Given the description of an element on the screen output the (x, y) to click on. 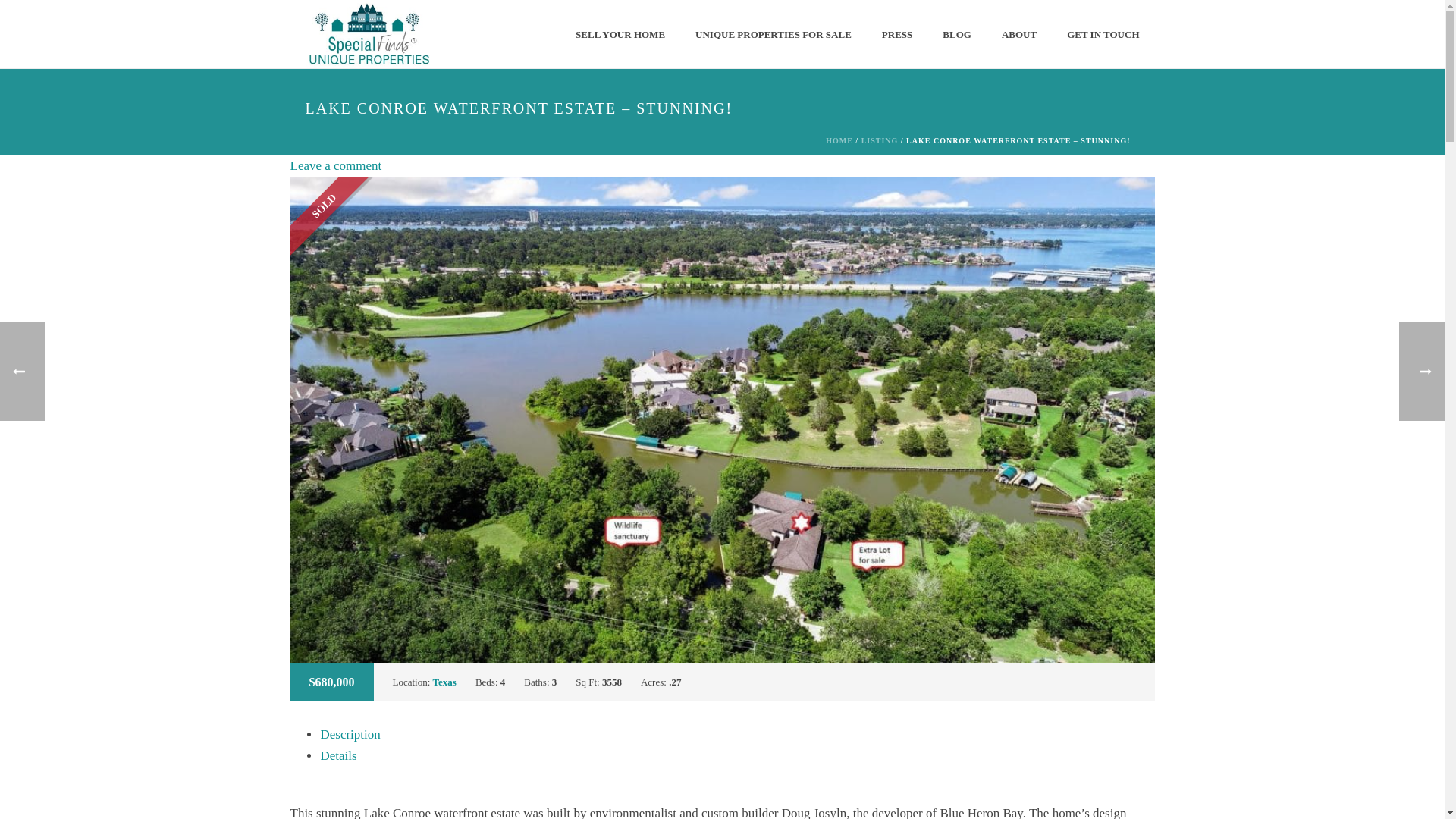
SELL YOUR HOME (619, 34)
BLOG (957, 34)
PRESS (896, 34)
UNIQUE PROPERTIES FOR SALE (772, 34)
UNIQUE PROPERTIES FOR SALE (772, 34)
ABOUT (1019, 34)
GET IN TOUCH (1102, 34)
BLOG (957, 34)
PRESS (896, 34)
GET IN TOUCH (1102, 34)
ABOUT (1019, 34)
SELL YOUR HOME (619, 34)
